Given the description of an element on the screen output the (x, y) to click on. 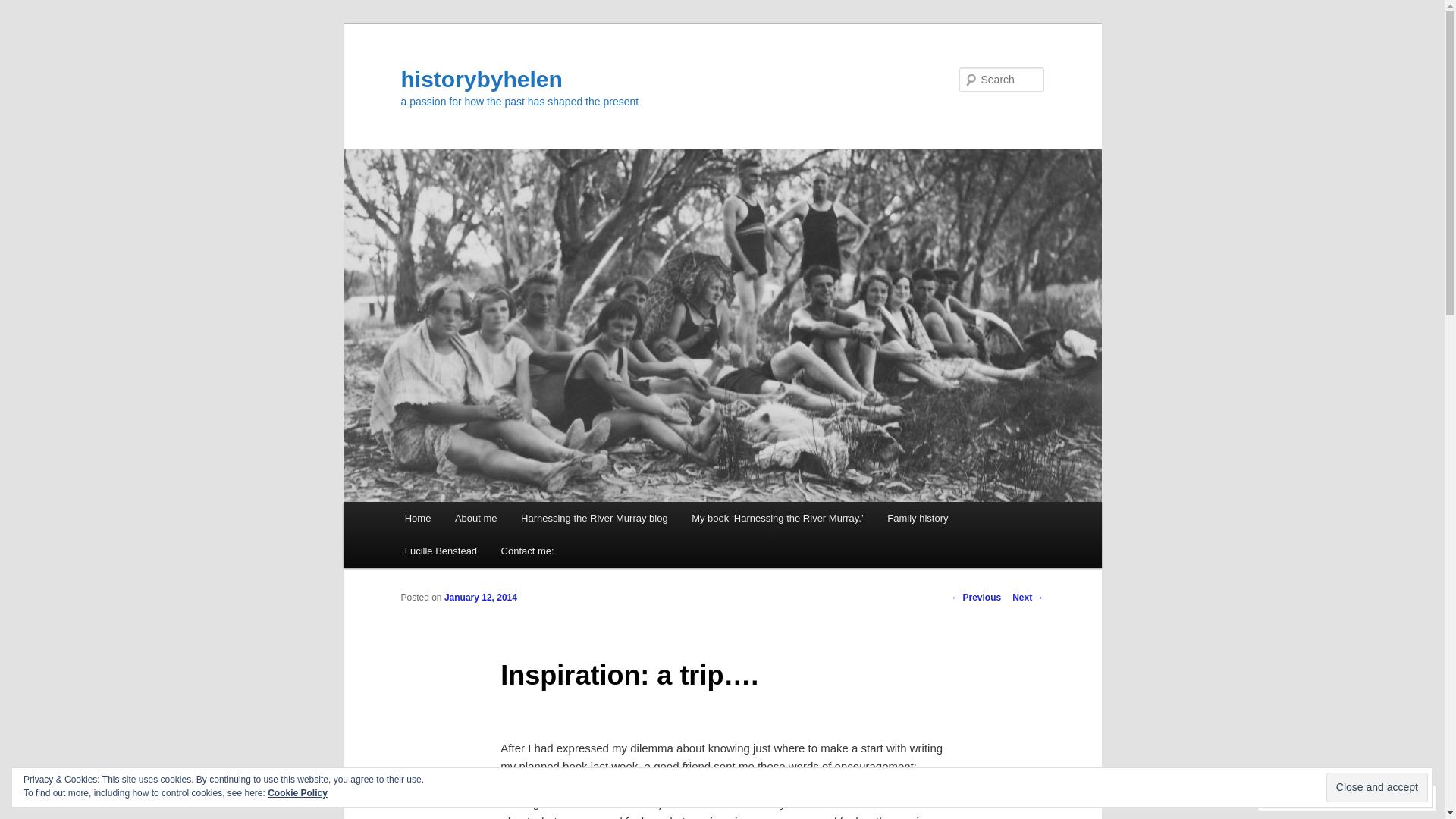
Contact me: Element type: text (527, 550)
Family history Element type: text (917, 518)
Cookie Policy Element type: text (297, 792)
Comment Element type: text (1298, 797)
Harnessing the River Murray blog Element type: text (593, 518)
About me Element type: text (475, 518)
Follow Element type: text (1373, 797)
January 12, 2014 Element type: text (480, 597)
Search Element type: text (24, 8)
Skip to primary content Element type: text (22, 22)
Home Element type: text (417, 518)
Close and accept Element type: text (1376, 787)
historybyhelen Element type: text (480, 78)
Lucille Benstead Element type: text (440, 550)
